Given the description of an element on the screen output the (x, y) to click on. 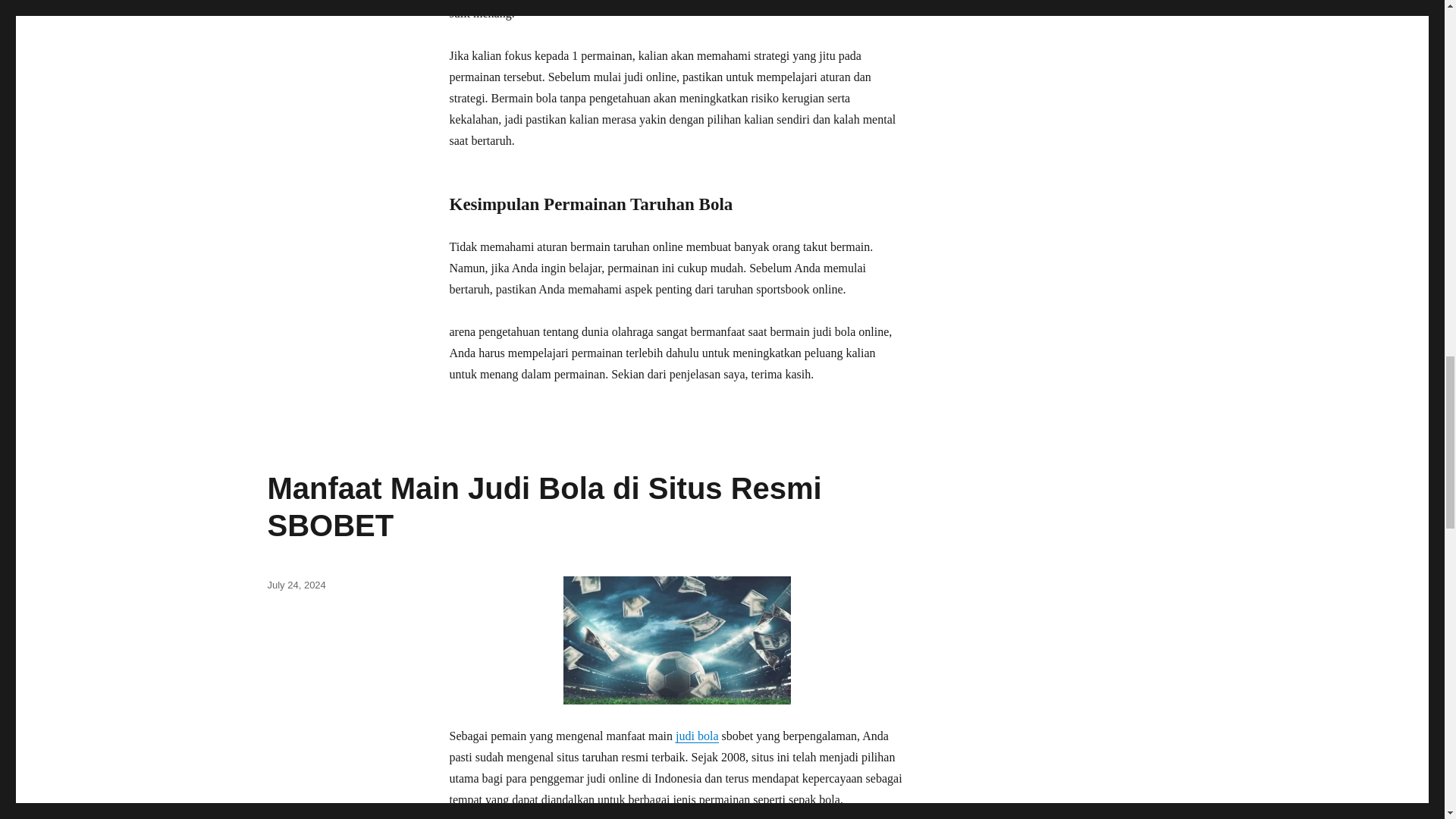
Manfaat Main Judi Bola di Situs Resmi SBOBET (543, 506)
July 24, 2024 (295, 584)
judi bola (696, 735)
